Given the description of an element on the screen output the (x, y) to click on. 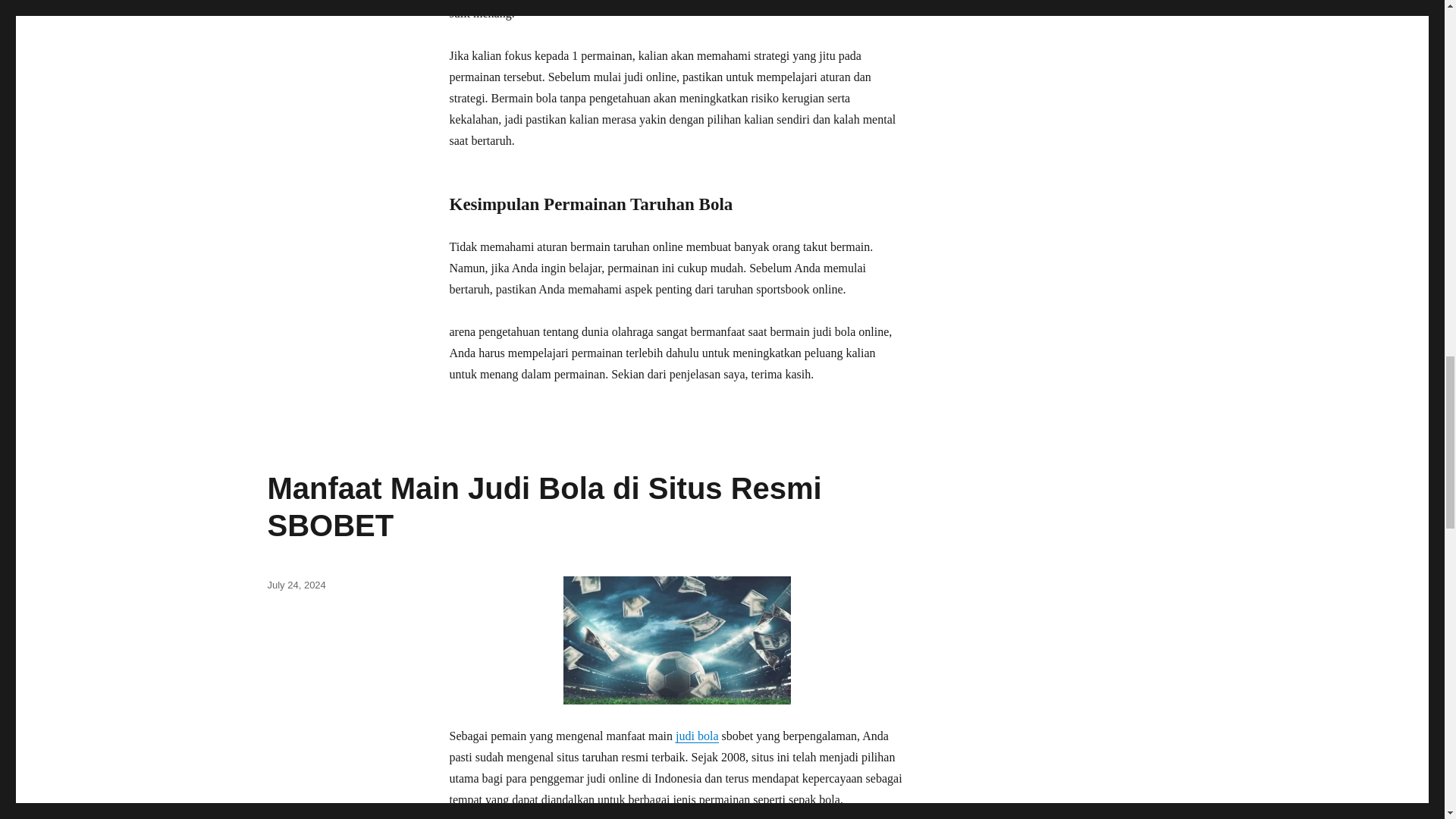
Manfaat Main Judi Bola di Situs Resmi SBOBET (543, 506)
July 24, 2024 (295, 584)
judi bola (696, 735)
